Given the description of an element on the screen output the (x, y) to click on. 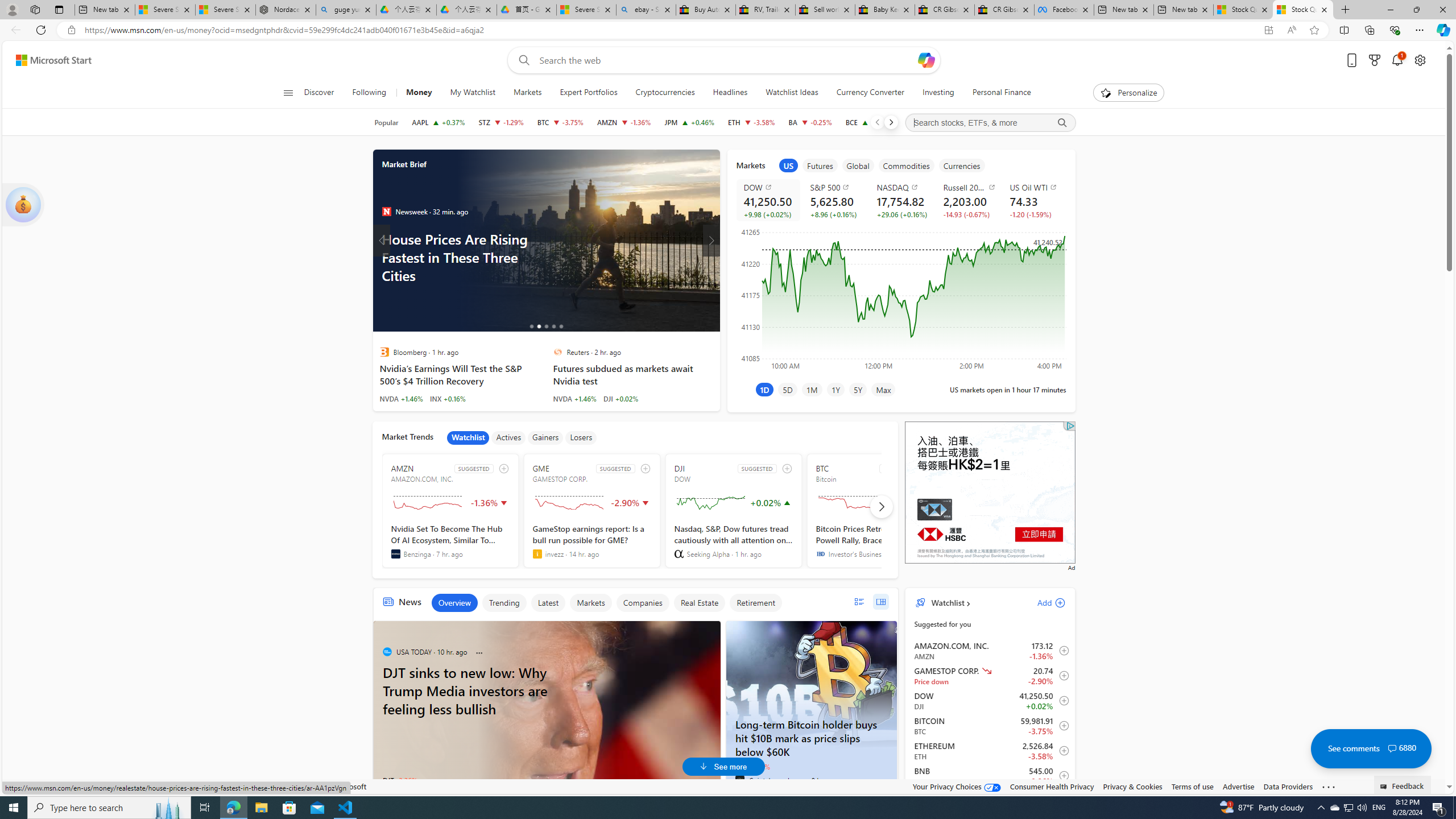
GME GAMESTOP CORP. decrease 20.74 -0.62 -2.90% item1 (989, 675)
Consumer Health Privacy (1051, 785)
RV, Trailer & Camper Steps & Ladders for sale | eBay (765, 9)
BCE BCE Inc increase 35.22 +0.08 +0.23% (869, 122)
DJI +0.02% (620, 397)
New York City (586, 240)
DJI DOW increase 41,250.50 +9.98 +0.02% item2 (989, 700)
Watchlist (946, 602)
Headlines (729, 92)
Privacy & Cookies (1131, 786)
AAPL APPLE INC. increase 228.03 +0.85 +0.37% (437, 122)
